Given the description of an element on the screen output the (x, y) to click on. 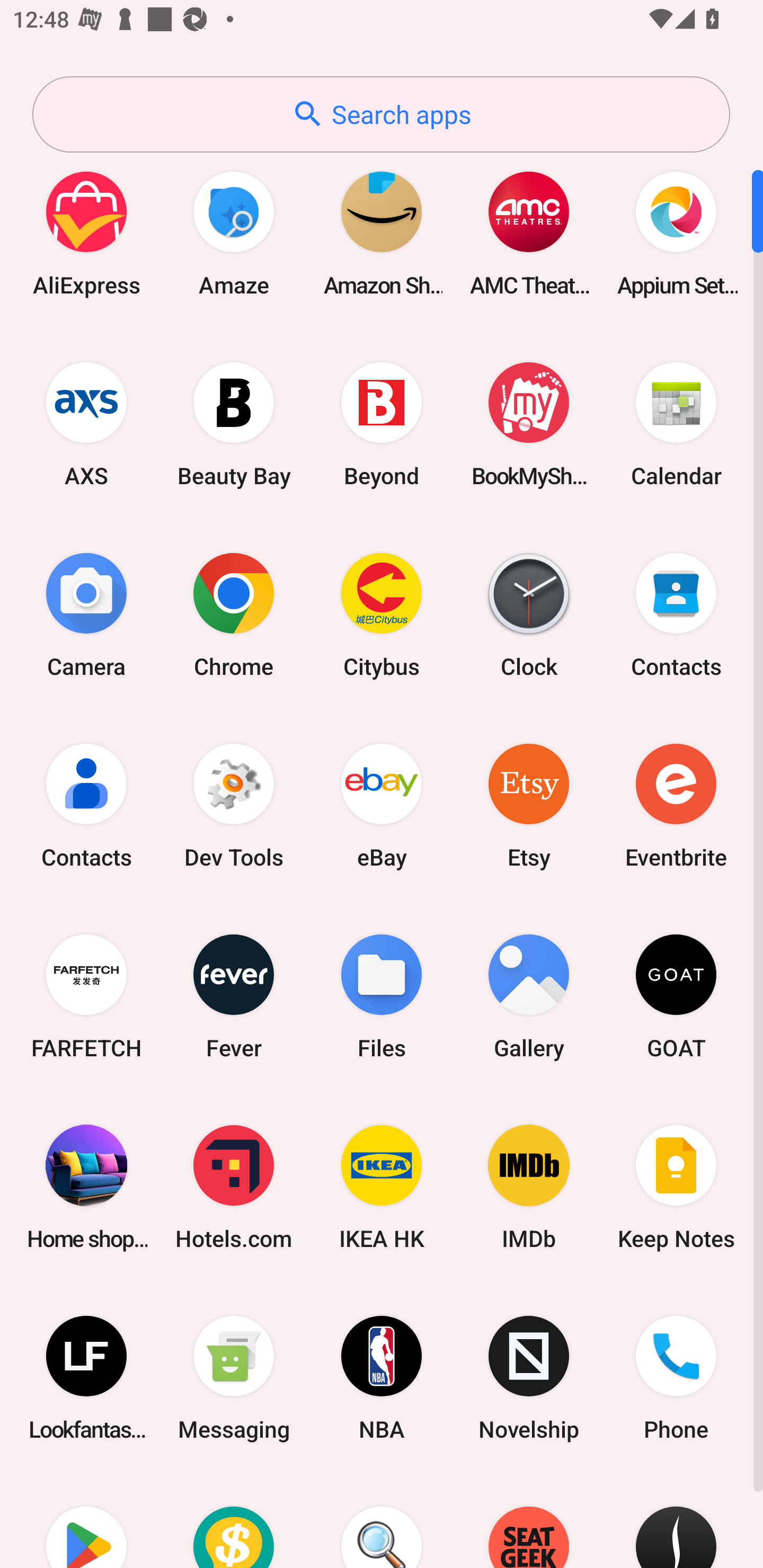
  Search apps (381, 114)
AliExpress (86, 233)
Amaze (233, 233)
Amazon Shopping (381, 233)
AMC Theatres (528, 233)
Appium Settings (676, 233)
AXS (86, 424)
Beauty Bay (233, 424)
Beyond (381, 424)
BookMyShow (528, 424)
Calendar (676, 424)
Camera (86, 614)
Chrome (233, 614)
Citybus (381, 614)
Clock (528, 614)
Contacts (676, 614)
Contacts (86, 805)
Dev Tools (233, 805)
eBay (381, 805)
Etsy (528, 805)
Eventbrite (676, 805)
FARFETCH (86, 996)
Fever (233, 996)
Files (381, 996)
Gallery (528, 996)
GOAT (676, 996)
Home shopping (86, 1186)
Hotels.com (233, 1186)
IKEA HK (381, 1186)
IMDb (528, 1186)
Keep Notes (676, 1186)
Lookfantastic (86, 1377)
Messaging (233, 1377)
NBA (381, 1377)
Novelship (528, 1377)
Phone (676, 1377)
